Given the description of an element on the screen output the (x, y) to click on. 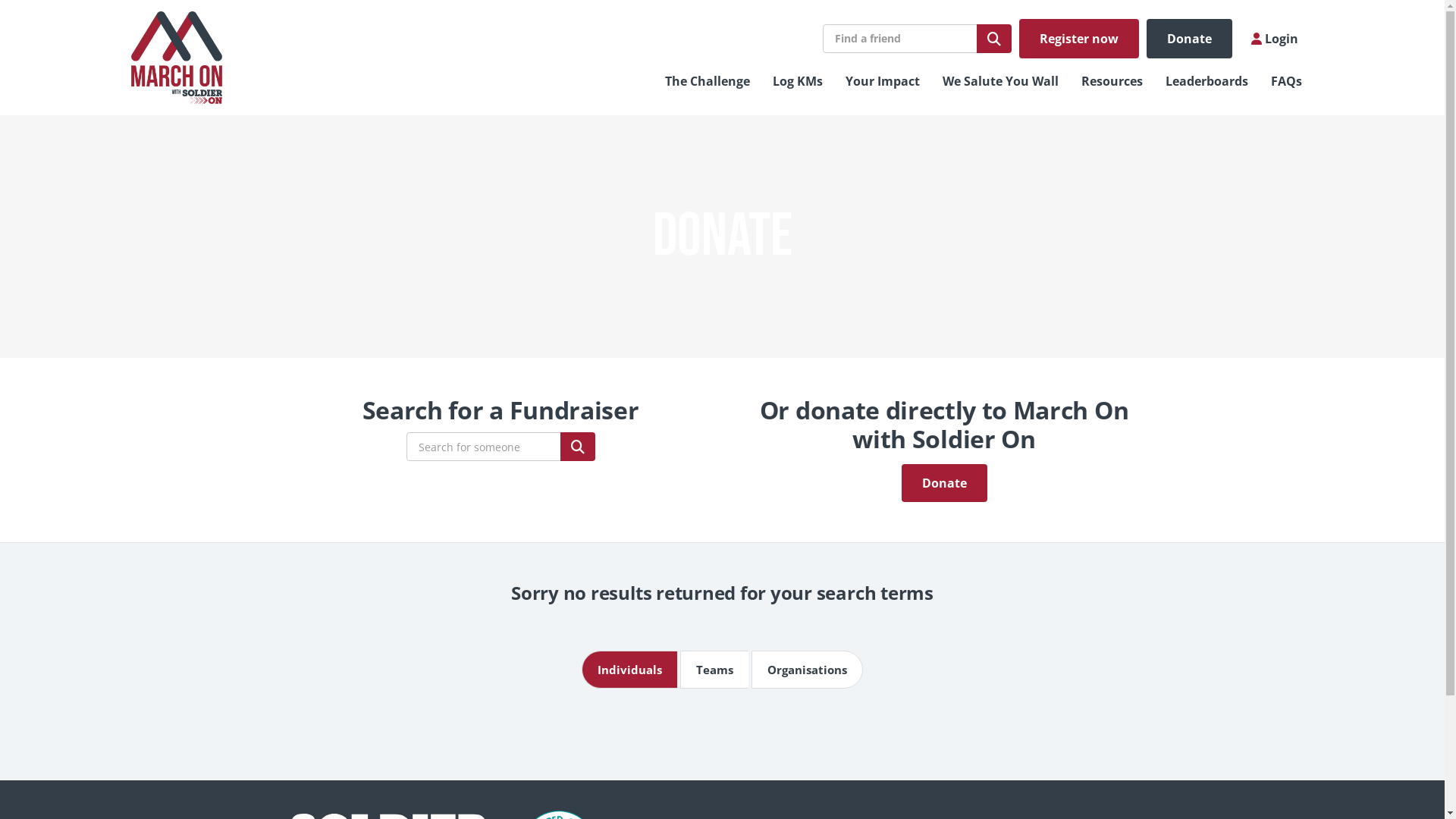
Leaderboards Element type: text (1206, 81)
Donate Element type: text (1189, 38)
The Challenge Element type: text (707, 81)
We Salute You Wall Element type: text (1000, 81)
Donate Element type: text (943, 483)
Organisations Element type: text (806, 669)
Register now Element type: text (1079, 38)
Login Element type: text (1274, 38)
FAQs Element type: text (1286, 81)
Your Impact Element type: text (882, 81)
Individuals Element type: text (629, 669)
Teams Element type: text (714, 669)
Resources Element type: text (1112, 81)
Log KMs Element type: text (797, 81)
